Given the description of an element on the screen output the (x, y) to click on. 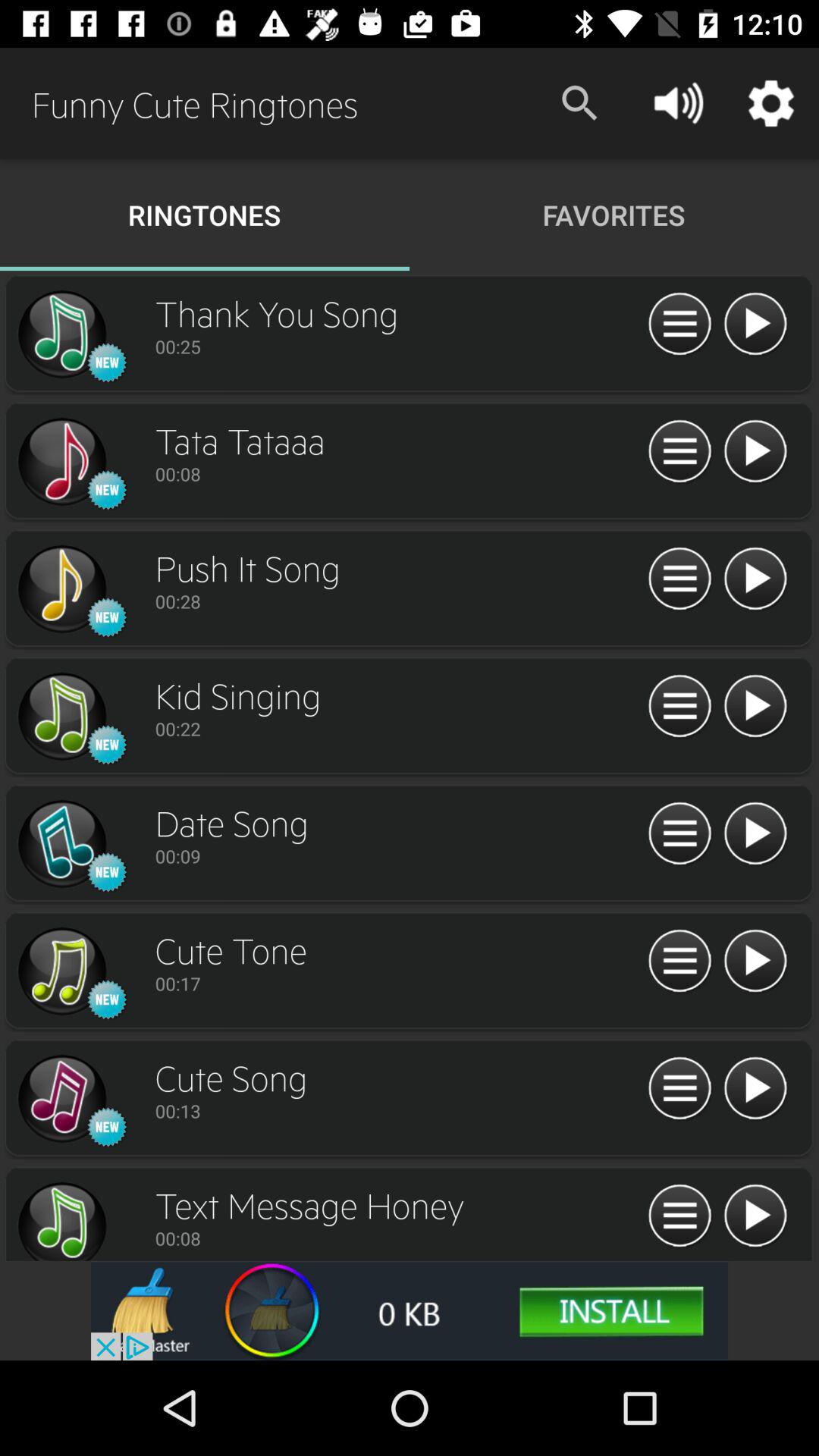
play song (755, 961)
